Given the description of an element on the screen output the (x, y) to click on. 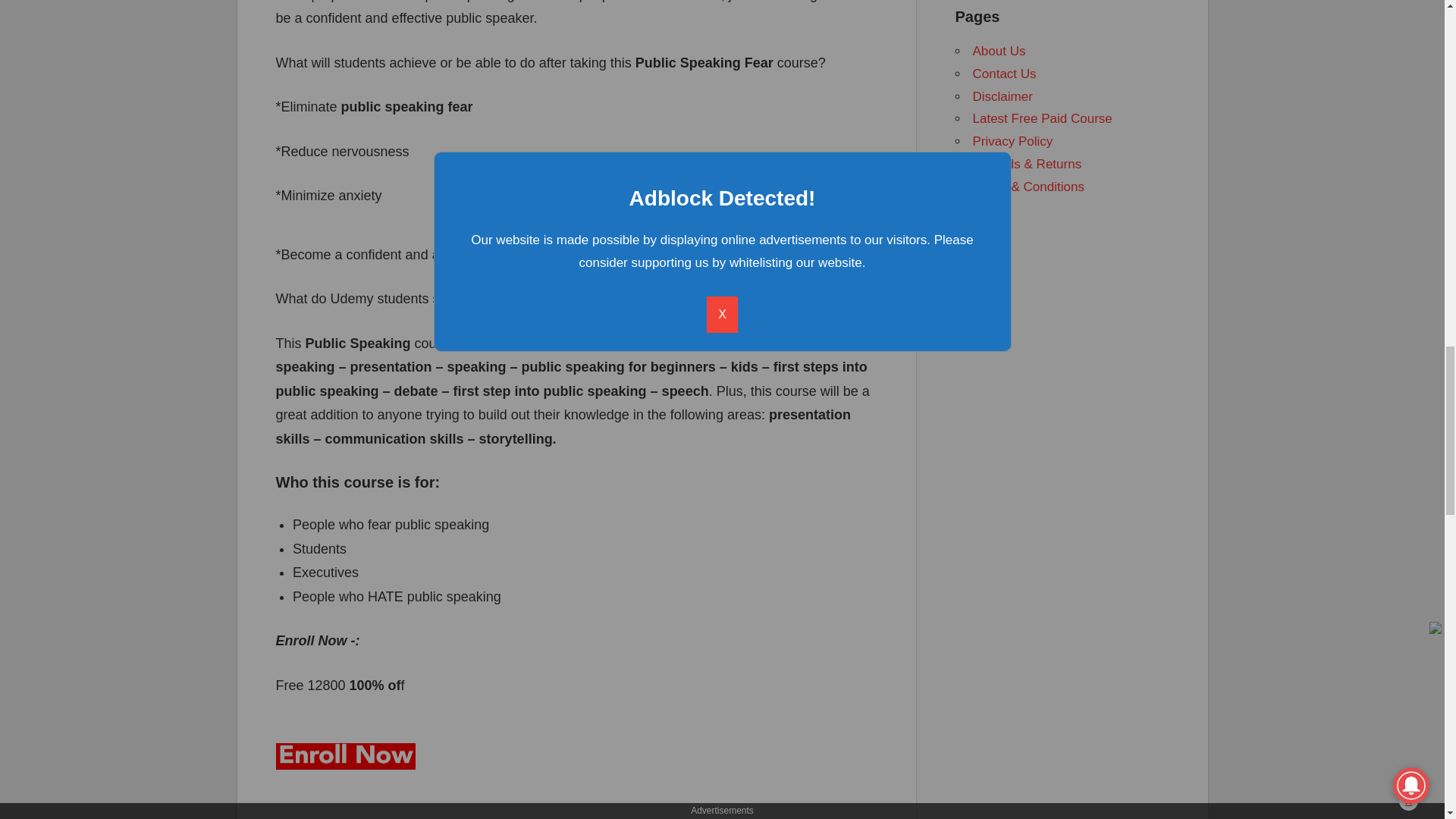
Fear of Public Speaking: Never Fear Public Speaking Again 2 (345, 755)
